Given the description of an element on the screen output the (x, y) to click on. 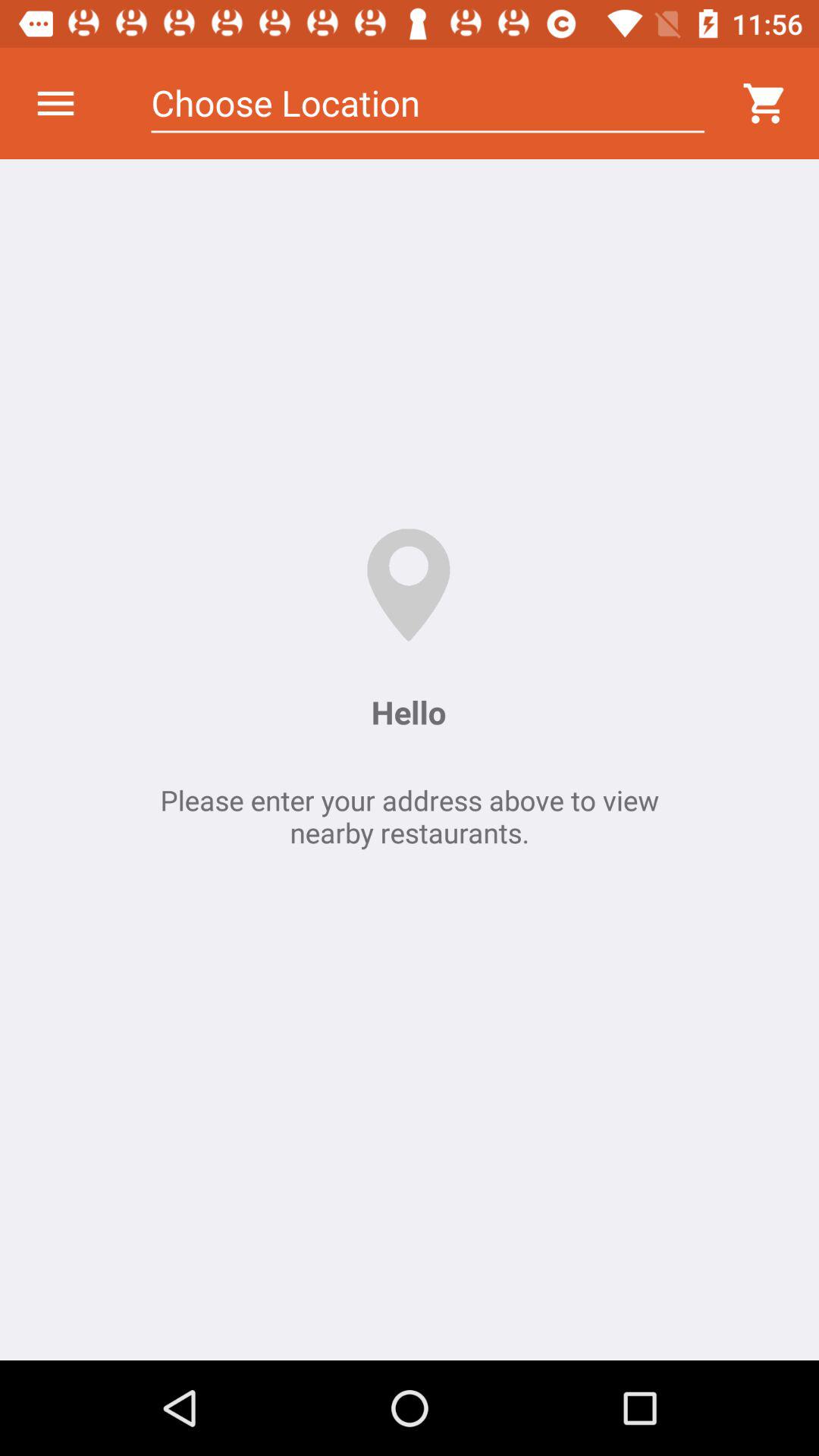
turn on icon at the top (427, 103)
